Given the description of an element on the screen output the (x, y) to click on. 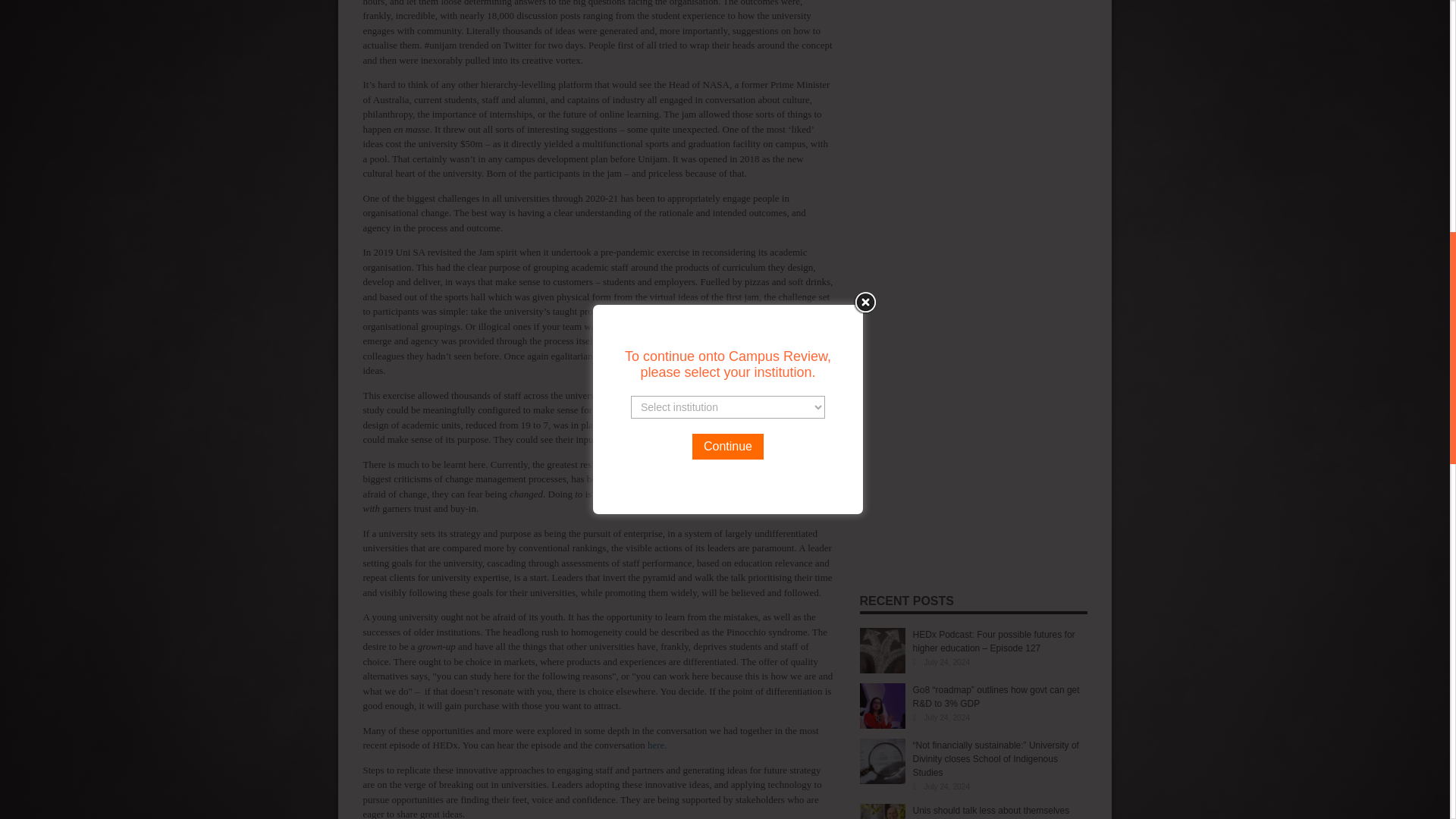
Scroll To Top (1427, 60)
